Given the description of an element on the screen output the (x, y) to click on. 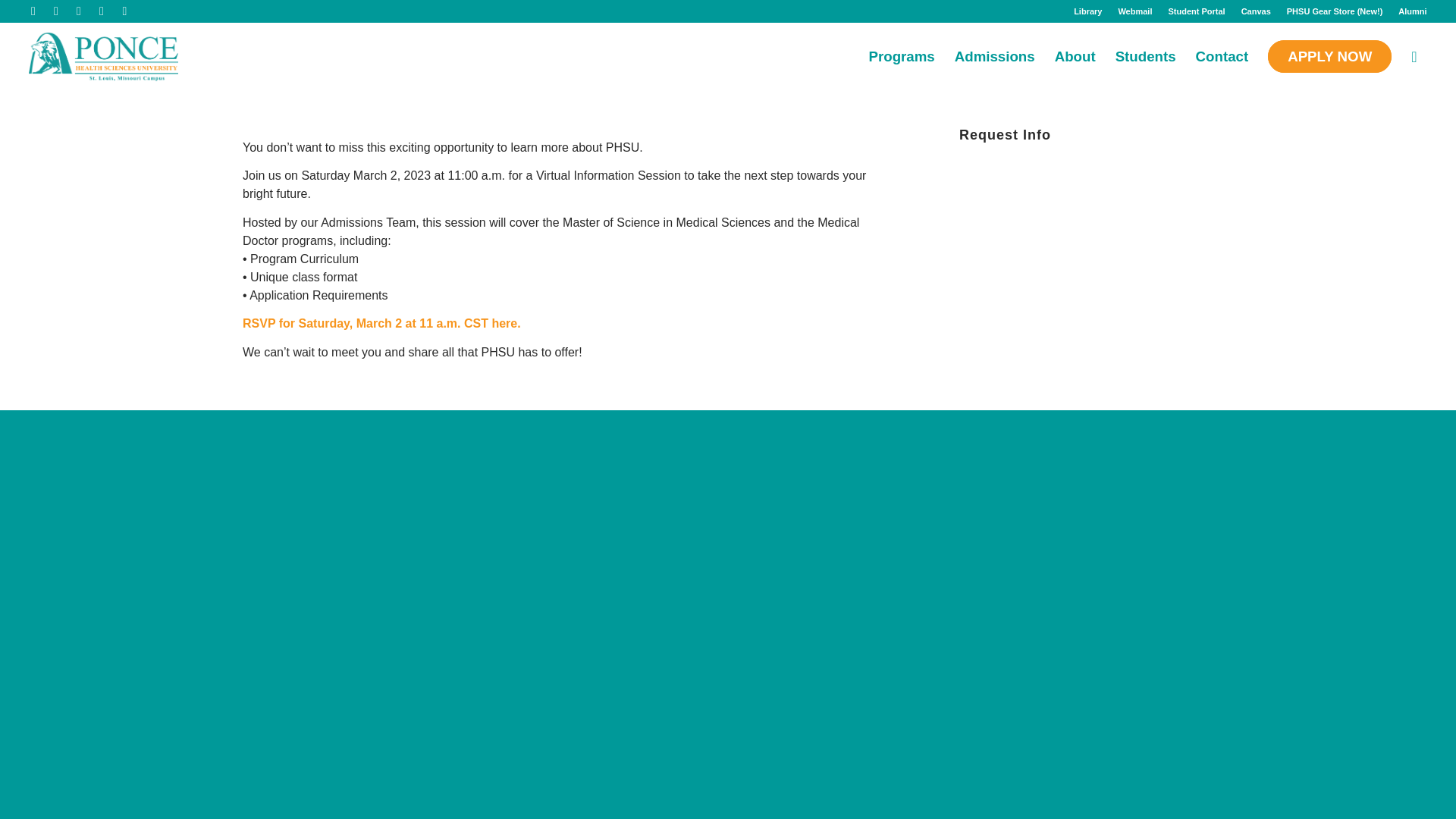
Youtube (124, 11)
LinkedIn (101, 11)
Alumni (1411, 11)
Admissions (994, 56)
Instagram (77, 11)
Twitter (32, 11)
About (1075, 56)
Facebook (55, 11)
Student Portal (1195, 11)
Programs (901, 56)
Library (1088, 11)
Canvas (1256, 11)
Webmail (1134, 11)
